Given the description of an element on the screen output the (x, y) to click on. 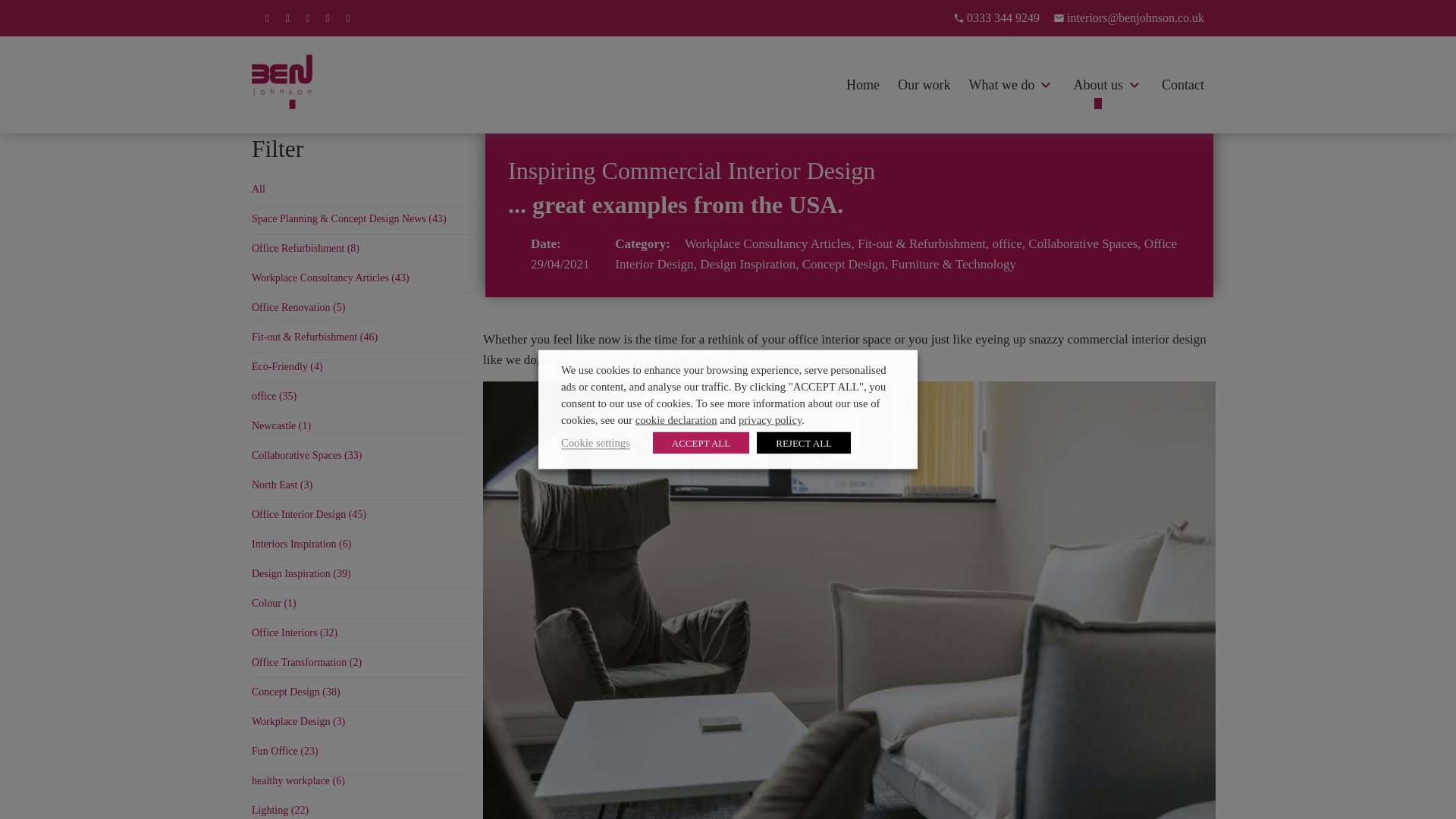
Our work (924, 84)
0333 344 9249 (996, 18)
Home (862, 84)
What we do (1002, 84)
